Given the description of an element on the screen output the (x, y) to click on. 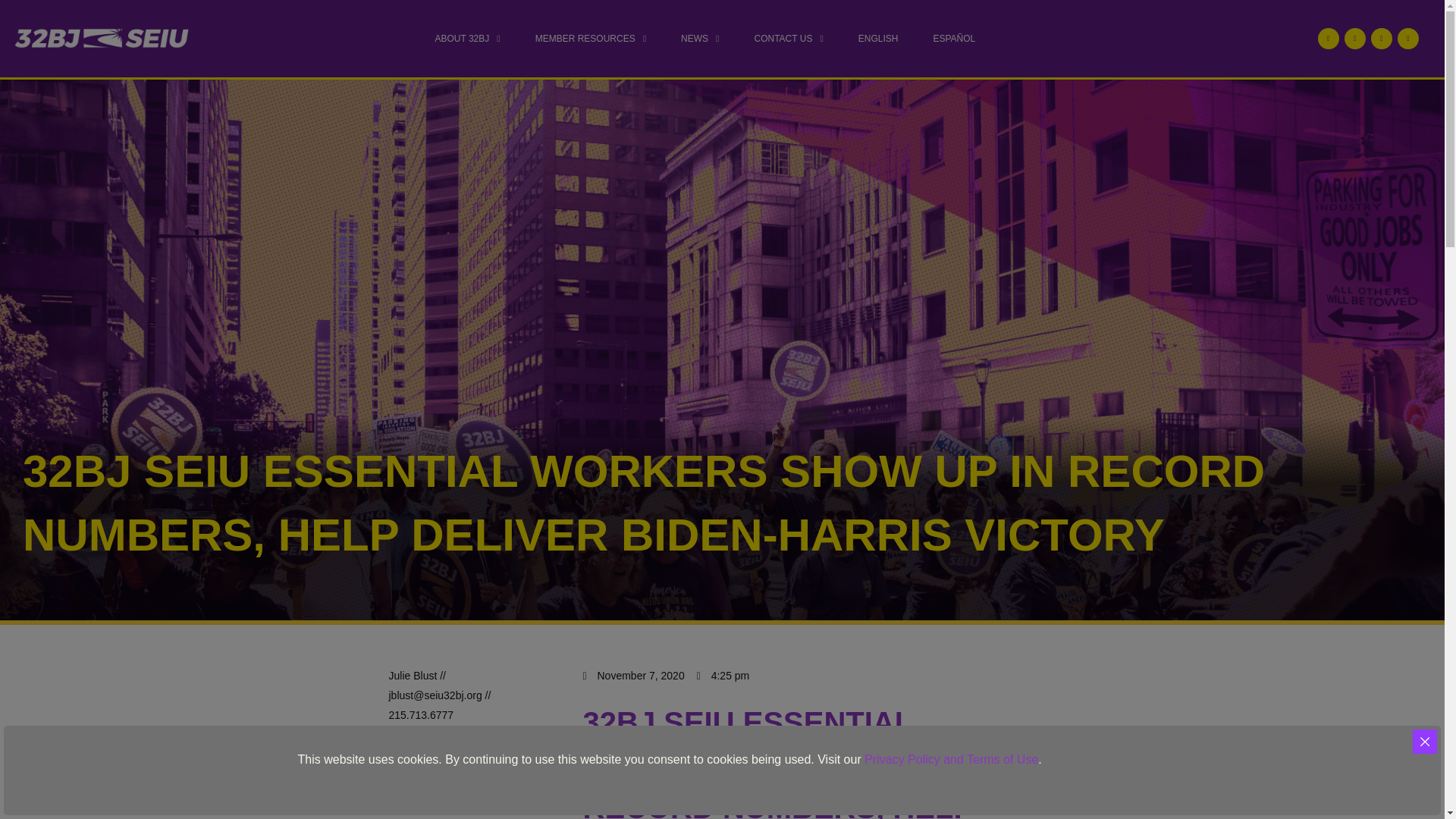
CONTACT US (788, 38)
English (878, 38)
NEWS (699, 38)
ABOUT 32BJ (467, 38)
ENGLISH (878, 38)
MEMBER RESOURCES (590, 38)
